Given the description of an element on the screen output the (x, y) to click on. 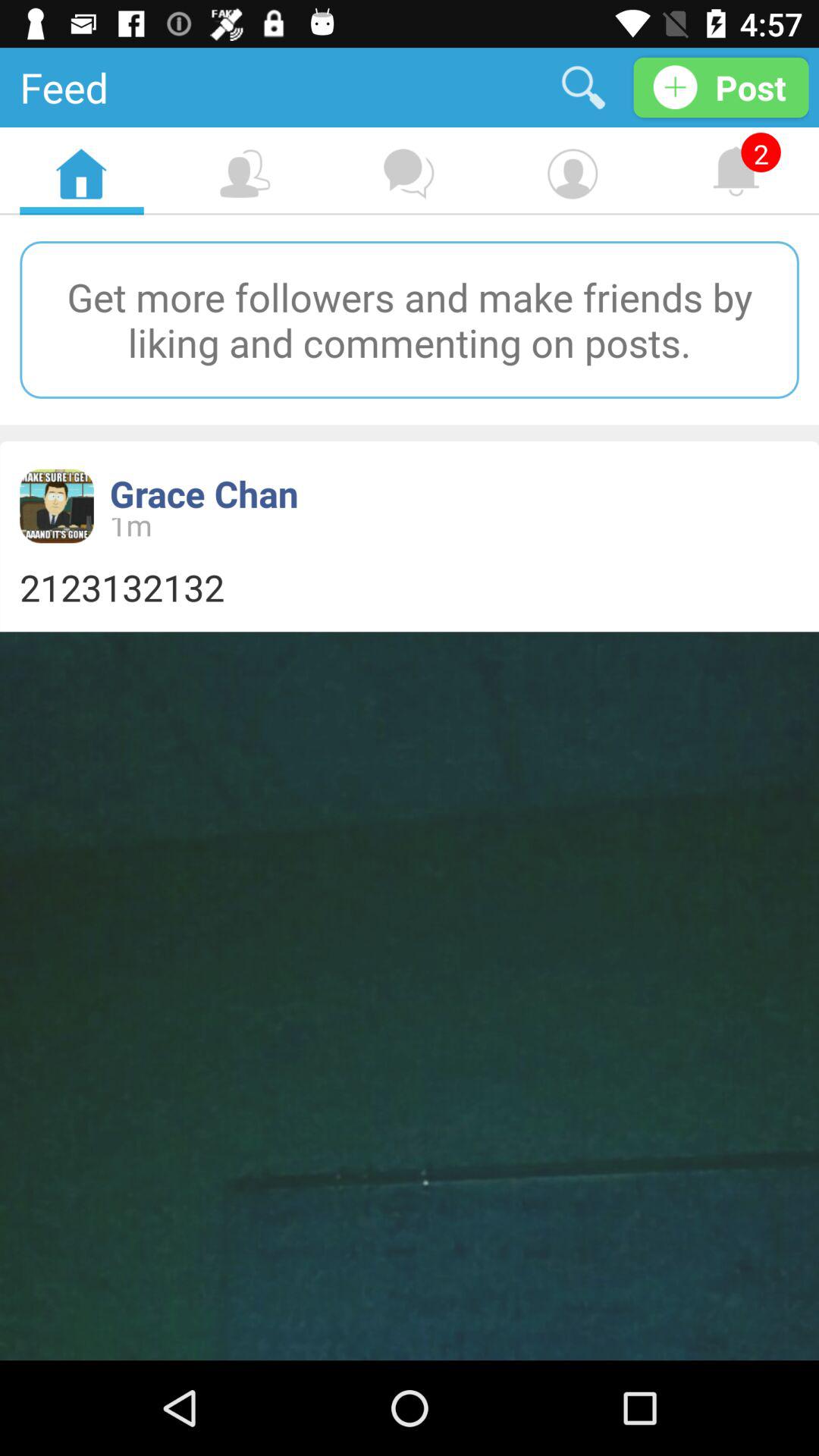
jump until grace chan (203, 493)
